Given the description of an element on the screen output the (x, y) to click on. 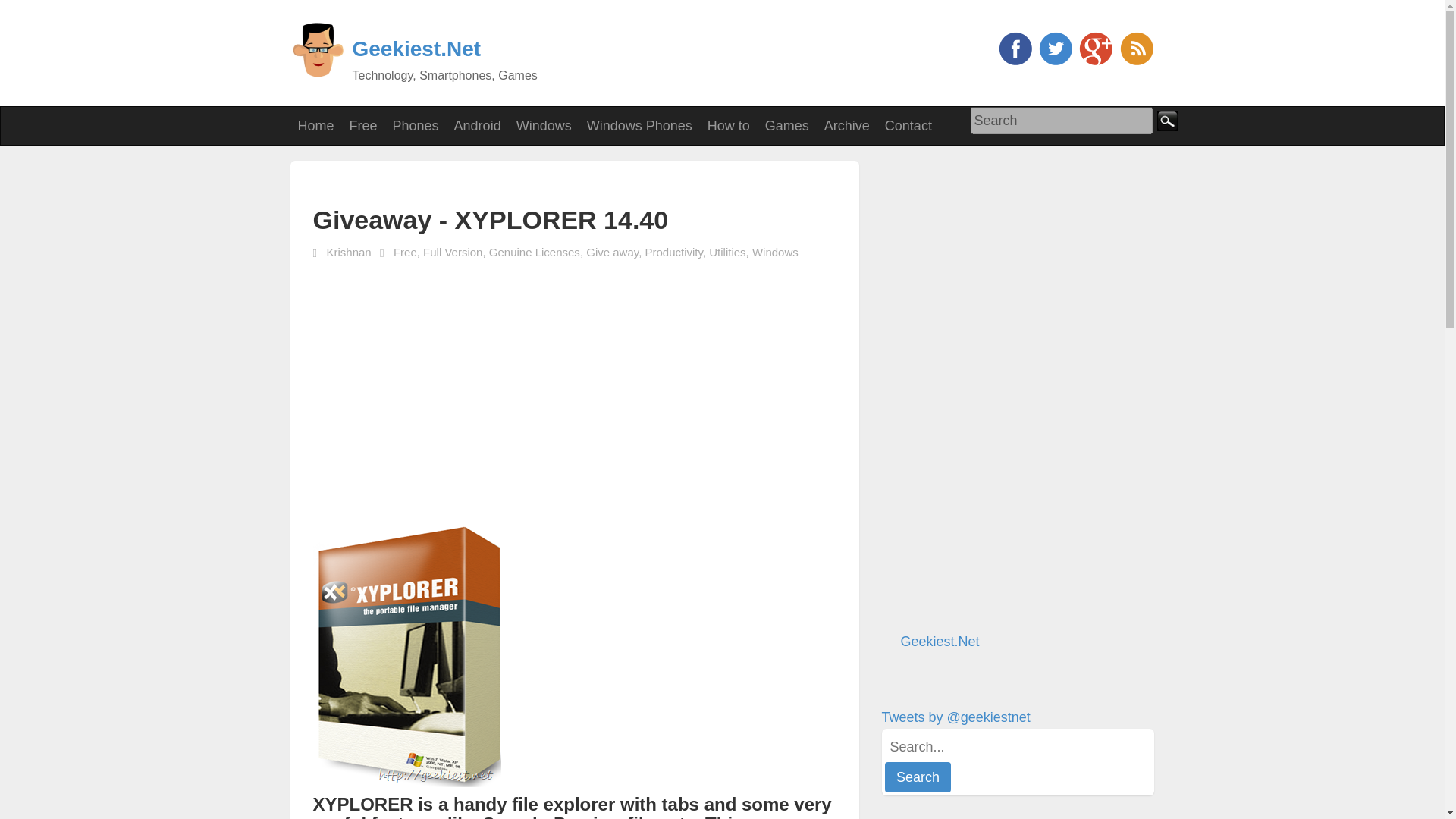
Phones (415, 125)
Giveaway - XYPLORER (406, 654)
Contact (908, 125)
Windows (543, 125)
Search (1062, 120)
Geekiest.Net (416, 48)
Advertisement (489, 182)
Windows (774, 251)
Archive (846, 125)
Full Version (452, 251)
Give away (612, 251)
How to (728, 125)
Advertisement (551, 393)
Free (363, 125)
Utilities (727, 251)
